Given the description of an element on the screen output the (x, y) to click on. 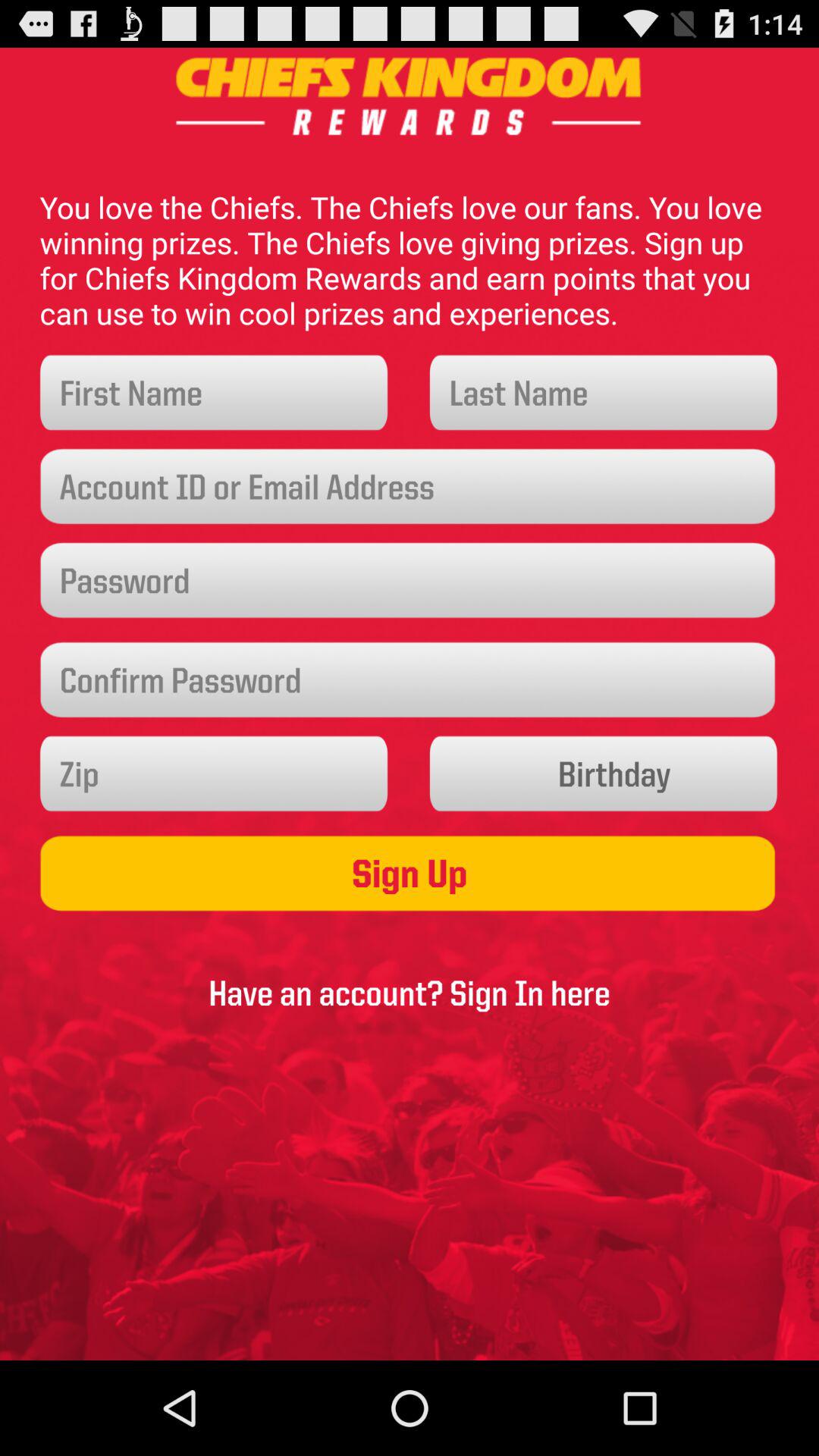
type password (409, 580)
